Given the description of an element on the screen output the (x, y) to click on. 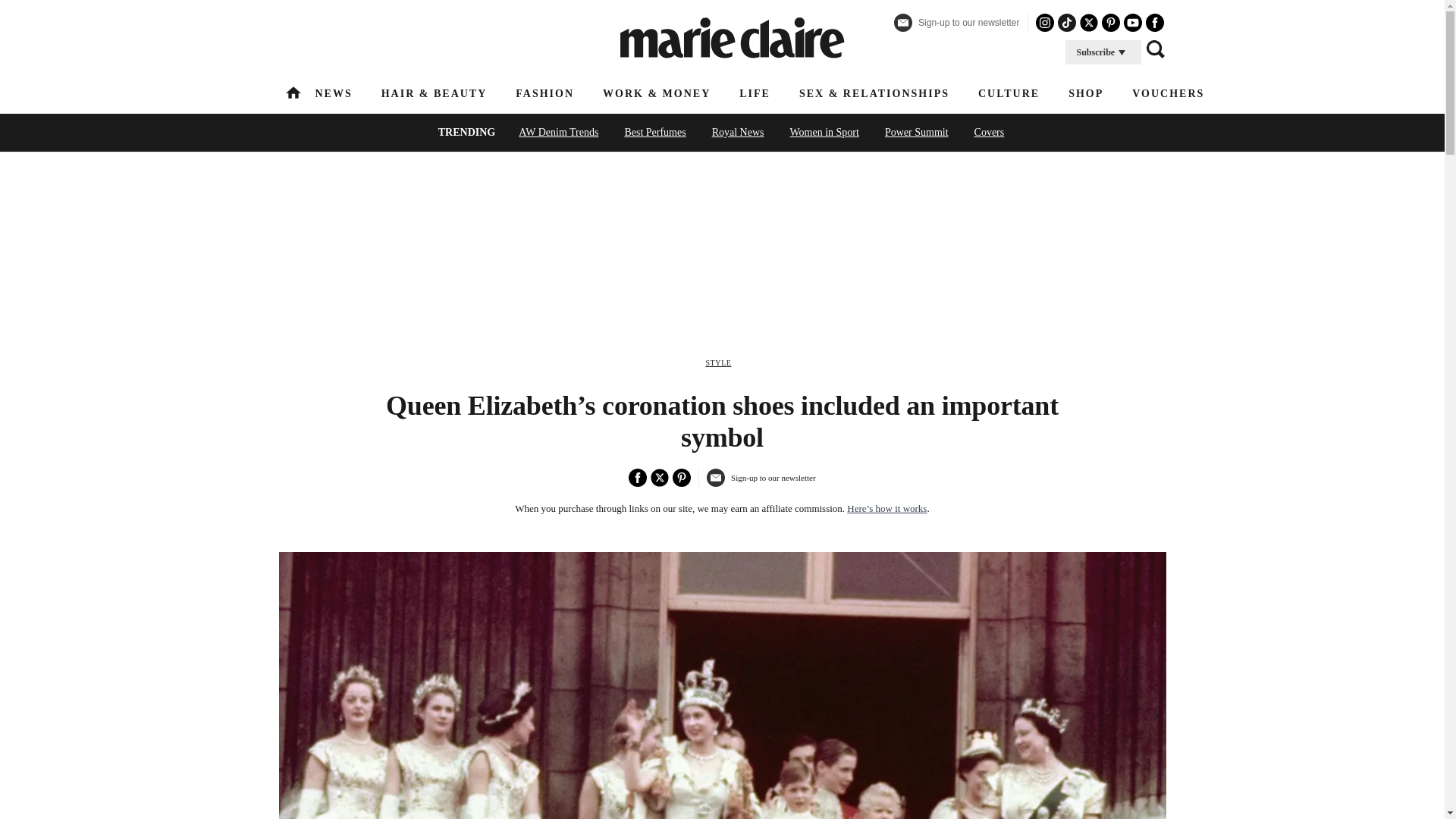
NEWS (333, 93)
FASHION (544, 93)
LIFE (754, 93)
